Given the description of an element on the screen output the (x, y) to click on. 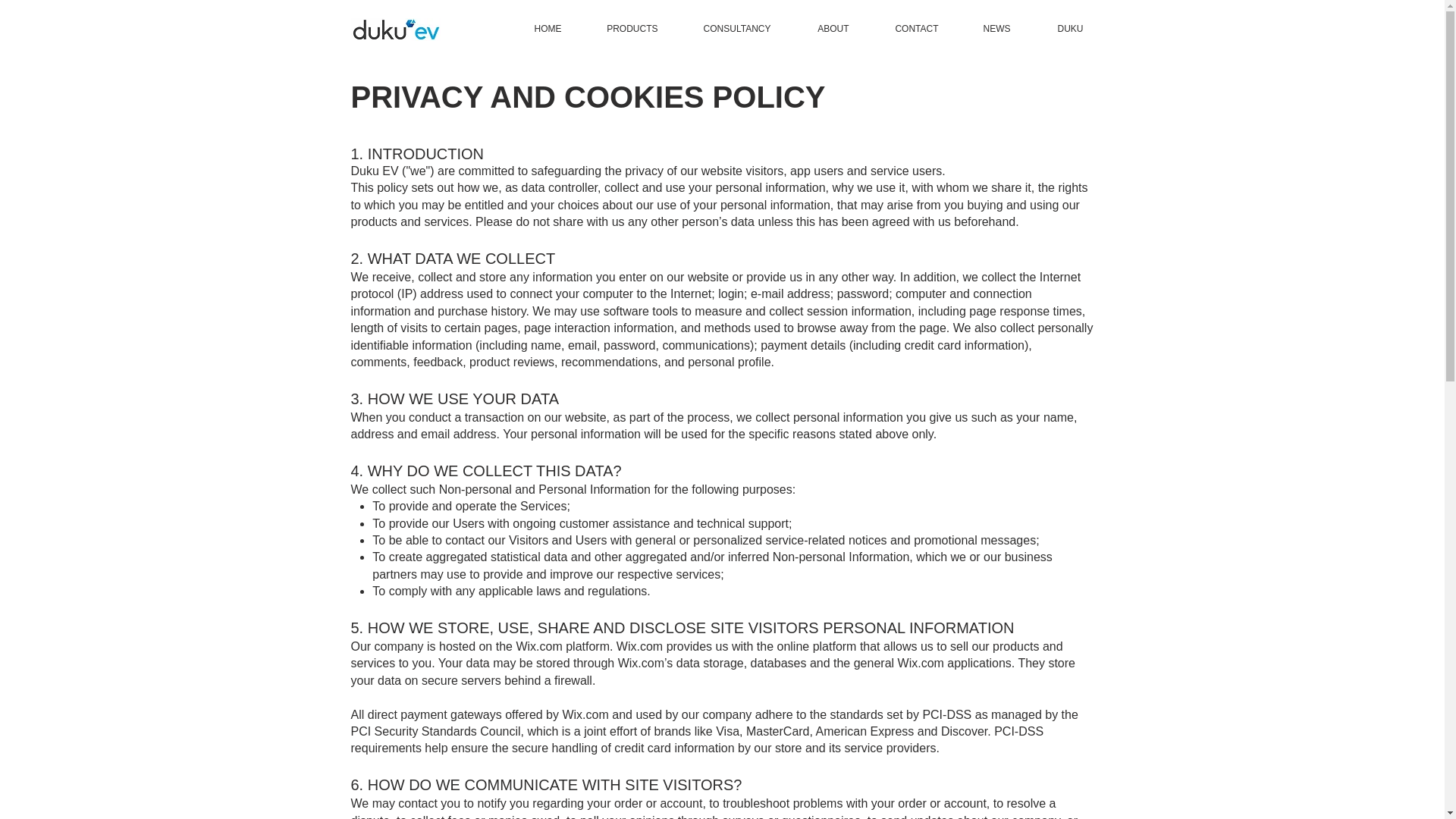
DUKU (1056, 28)
HOME (533, 28)
CONTACT (903, 28)
ABOUT (819, 28)
NEWS (983, 28)
PRODUCTS (620, 28)
CONSULTANCY (723, 28)
